Given the description of an element on the screen output the (x, y) to click on. 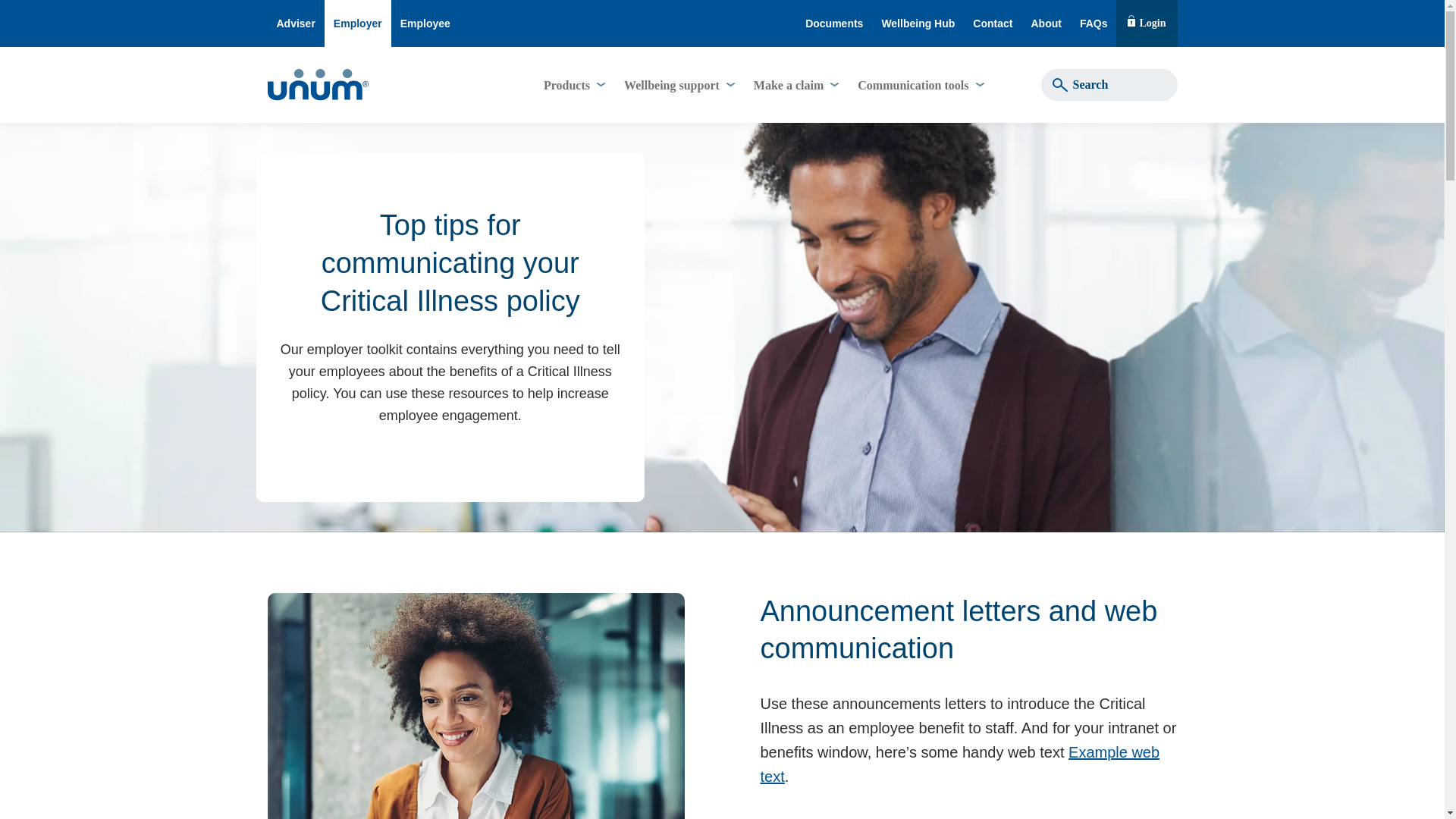
FAQs (1093, 23)
Wellbeing support (677, 84)
Contact (992, 23)
Products (572, 84)
Adviser (294, 23)
About (1146, 23)
Employee (1046, 23)
Employer (425, 23)
Documents (357, 23)
